Given the description of an element on the screen output the (x, y) to click on. 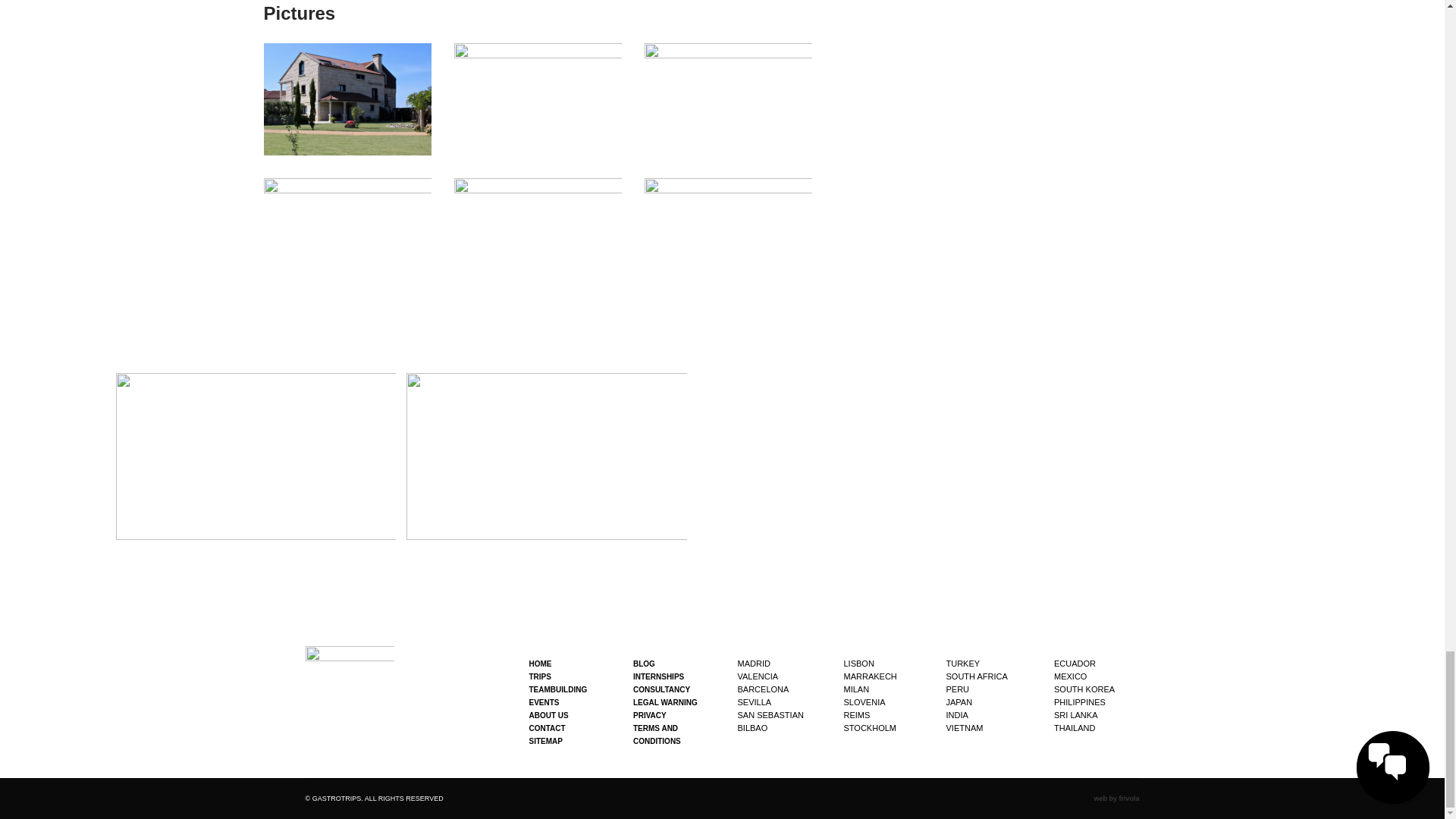
Rias Baixas foto tour web (537, 233)
Pulpo a feira foto tour web (728, 98)
Carril foto tour web (537, 98)
Almeja de Carril foto tour web (346, 233)
Alojamiento foto tour web (346, 98)
